Given the description of an element on the screen output the (x, y) to click on. 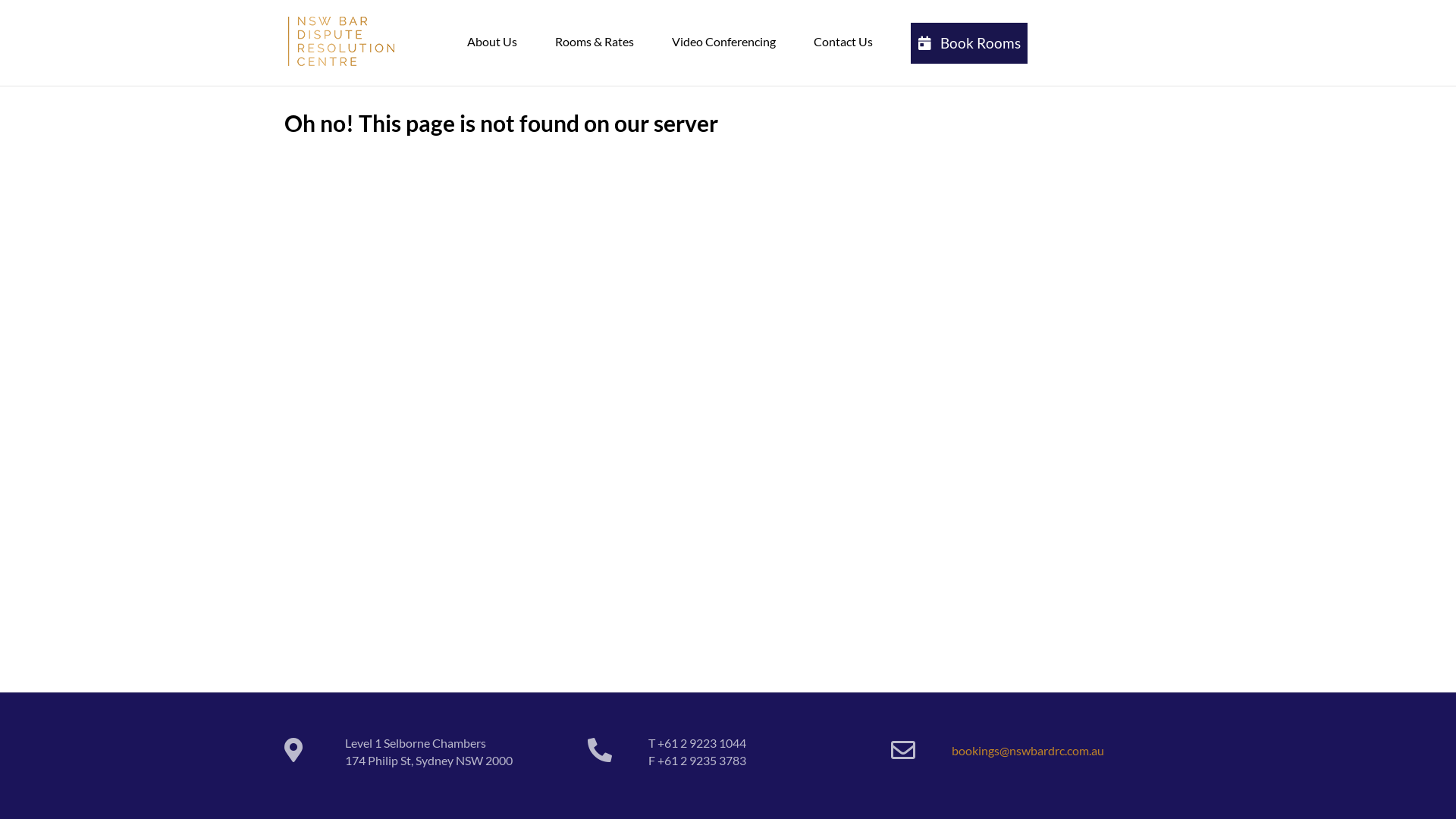
Rooms & Rates Element type: text (594, 41)
About Us Element type: text (492, 41)
bookings@nswbardrc.com.au Element type: text (1027, 750)
Contact Us Element type: text (842, 41)
Video Conferencing Element type: text (723, 41)
  Book Rooms Element type: text (968, 42)
